Given the description of an element on the screen output the (x, y) to click on. 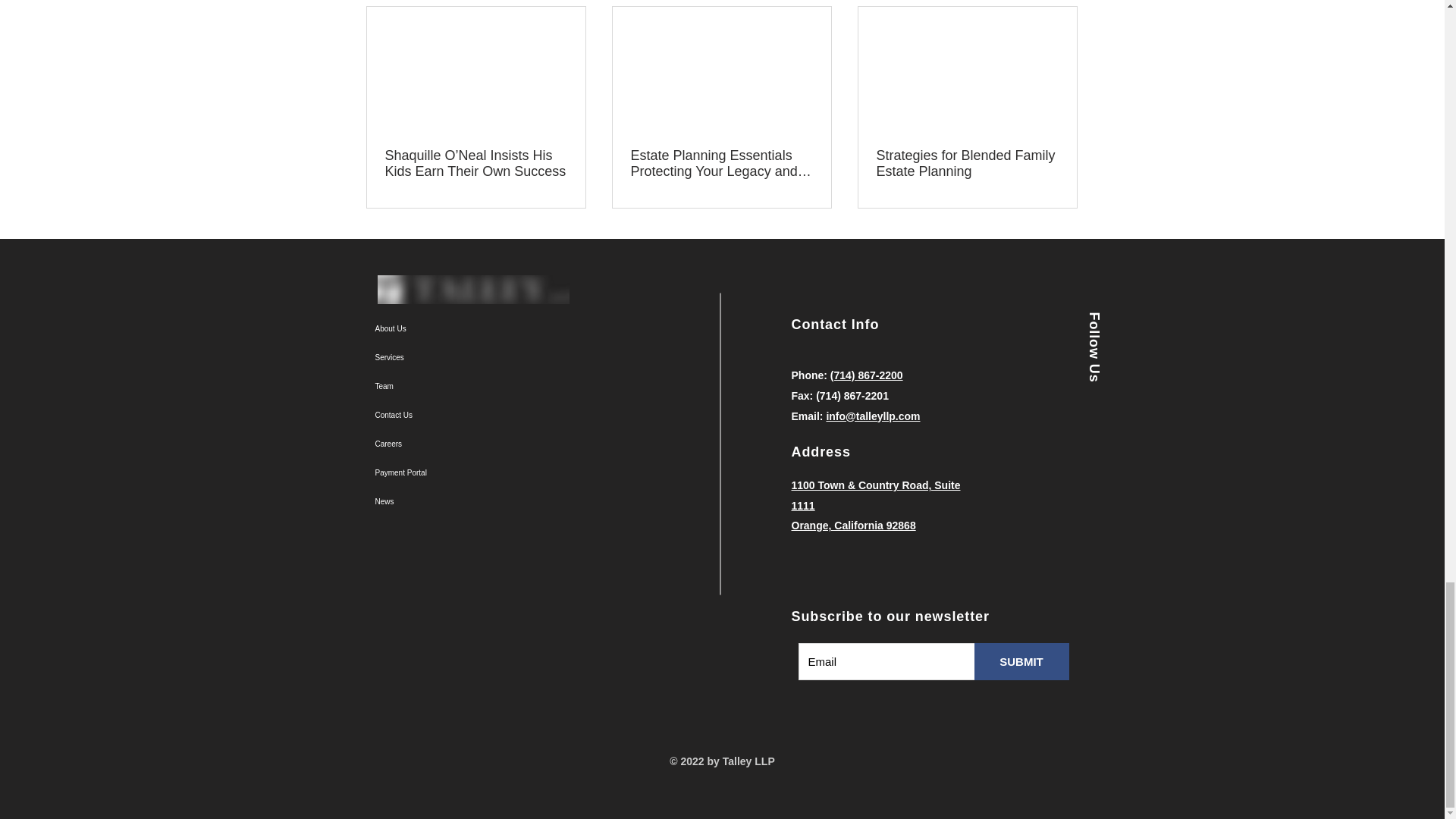
Strategies for Blended Family Estate Planning (967, 163)
About Us (436, 328)
